Given the description of an element on the screen output the (x, y) to click on. 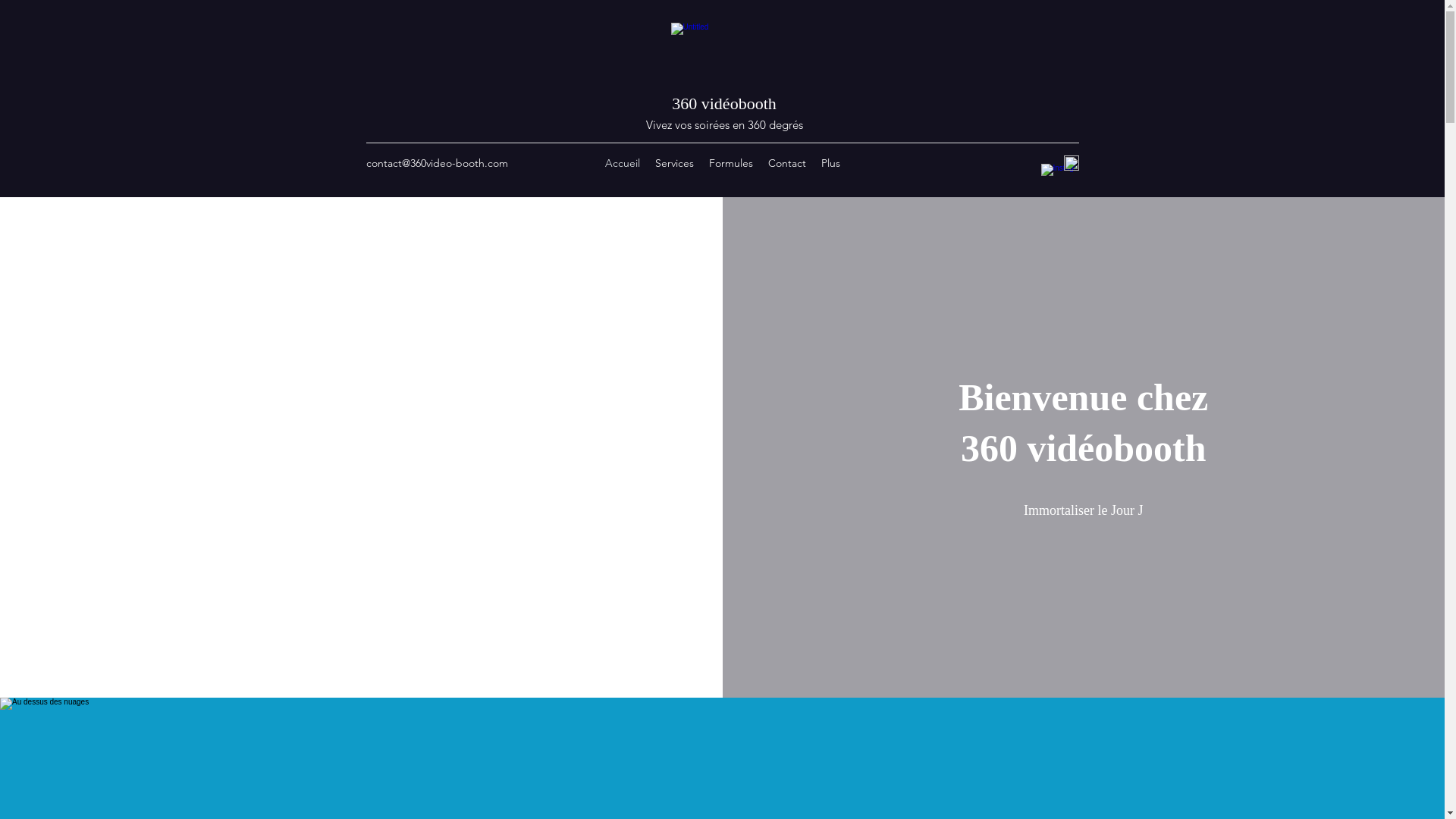
contact@360video-booth.com Element type: text (436, 162)
Contact Element type: text (786, 162)
Services Element type: text (674, 162)
Formules Element type: text (730, 162)
Accueil Element type: text (622, 162)
